Given the description of an element on the screen output the (x, y) to click on. 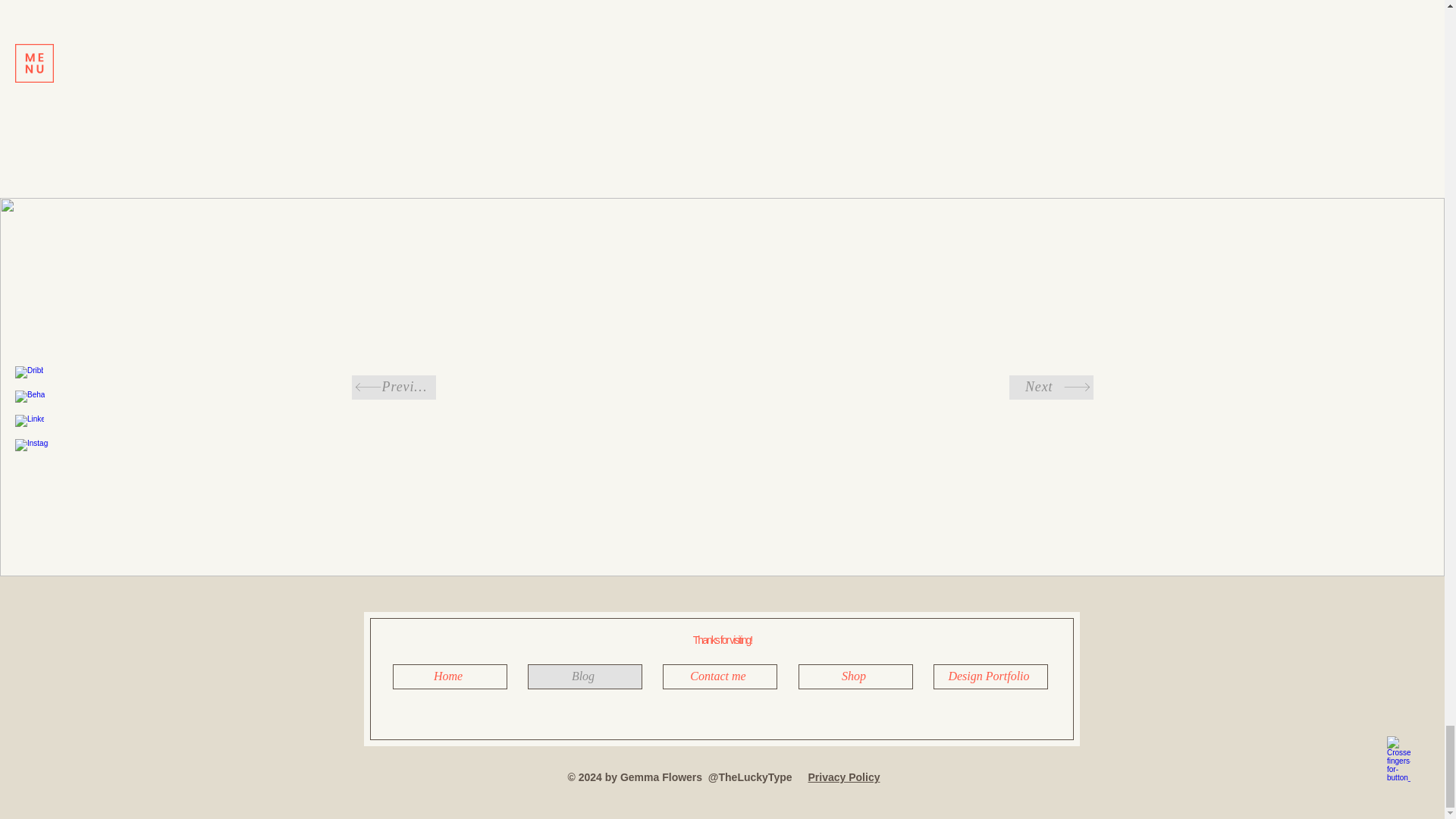
Contact me (719, 676)
Blog (584, 676)
Home (449, 676)
Next (1051, 387)
Privacy Policy (844, 776)
Previous (392, 387)
Shop (854, 676)
Design Portfolio (989, 676)
